Given the description of an element on the screen output the (x, y) to click on. 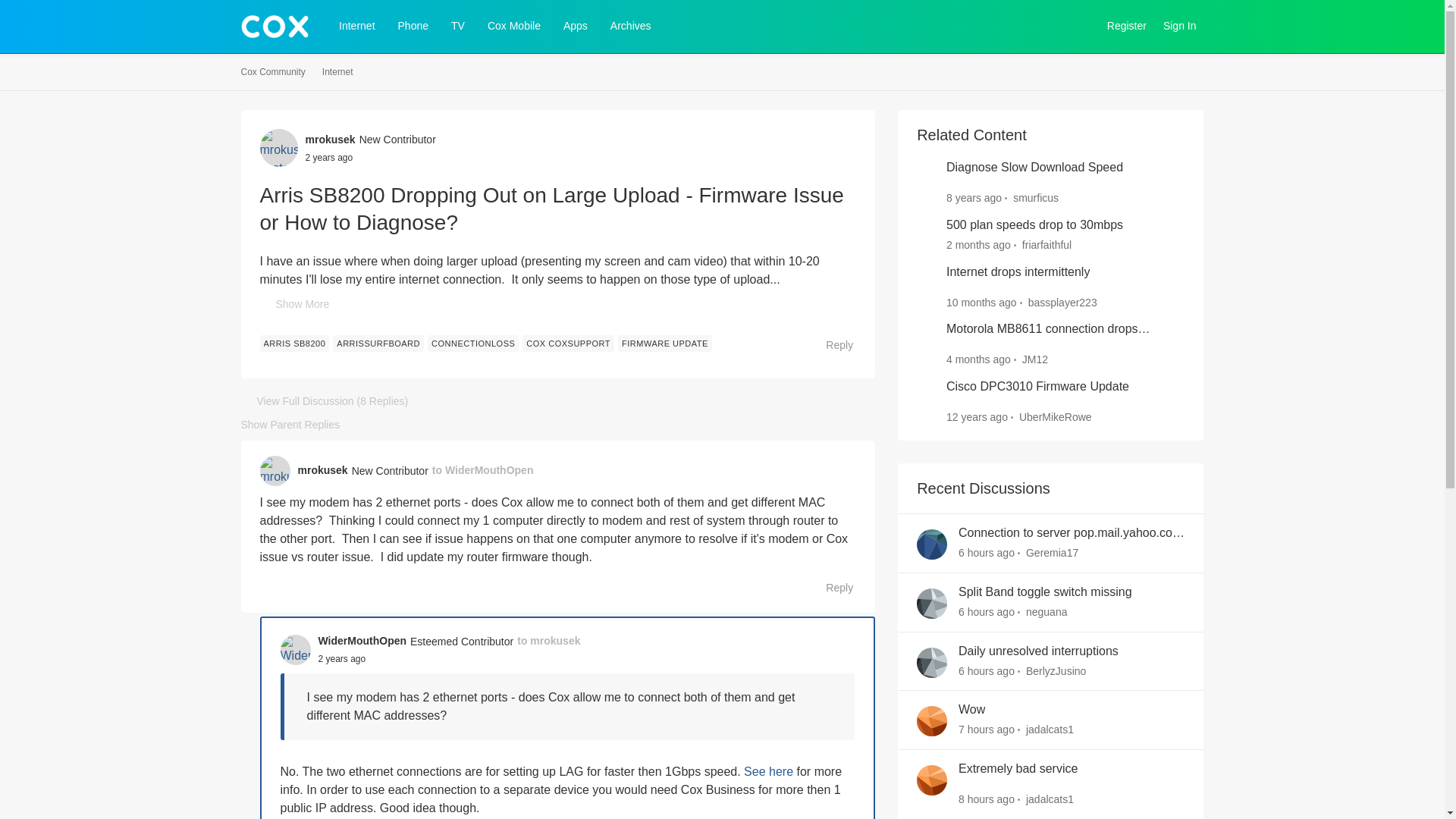
WiderMouthOpen (362, 641)
March 14, 2013 at 6:26 PM (976, 417)
500 plan speeds drop to 30mbps (1034, 225)
Reply (831, 588)
May 5, 2024 at 10:52 PM (978, 358)
Cox Mobile (514, 26)
Archives (630, 26)
ARRISSURFBOARD (378, 343)
Reply (831, 344)
Cox Community (273, 71)
